Given the description of an element on the screen output the (x, y) to click on. 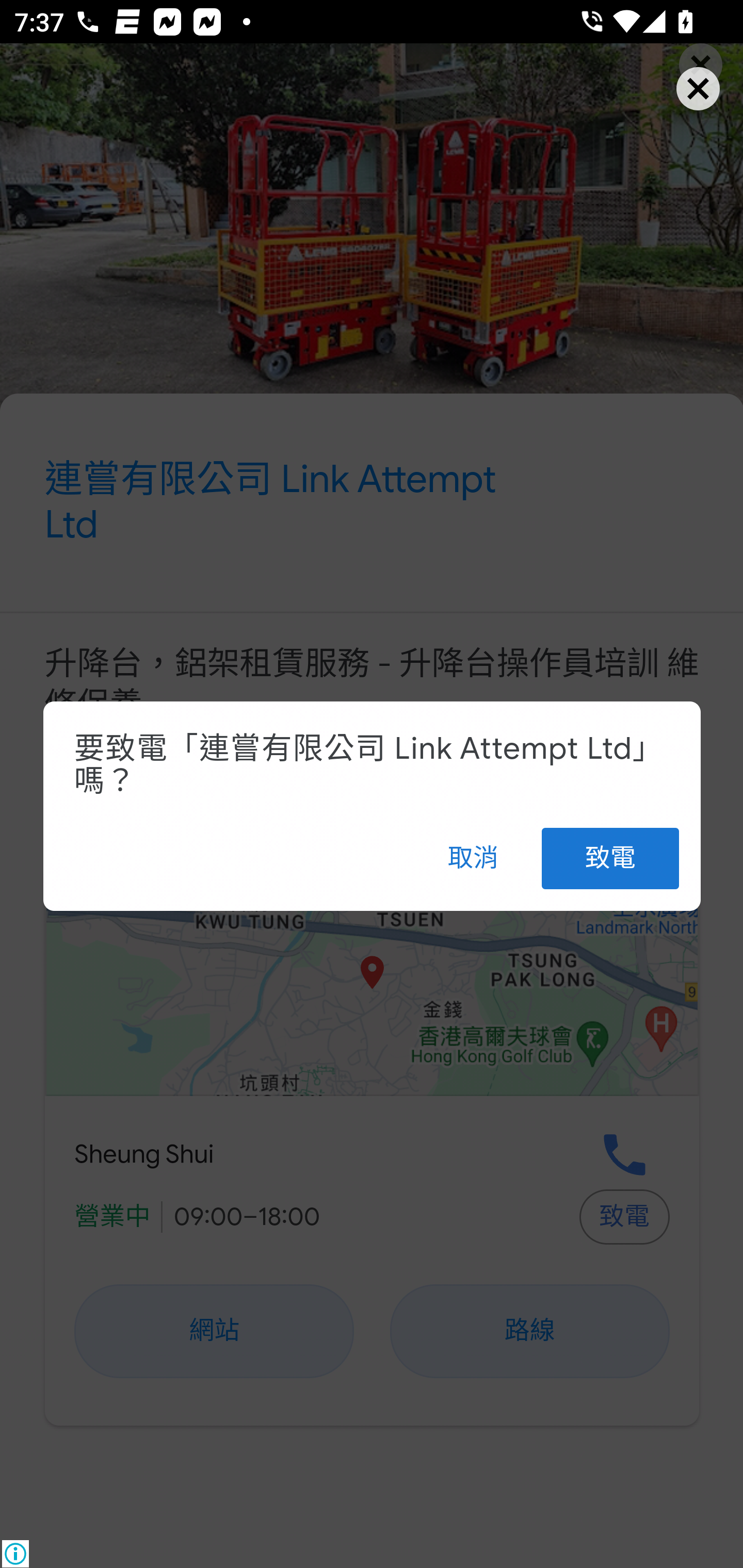
致電 (609, 857)
